Given the description of an element on the screen output the (x, y) to click on. 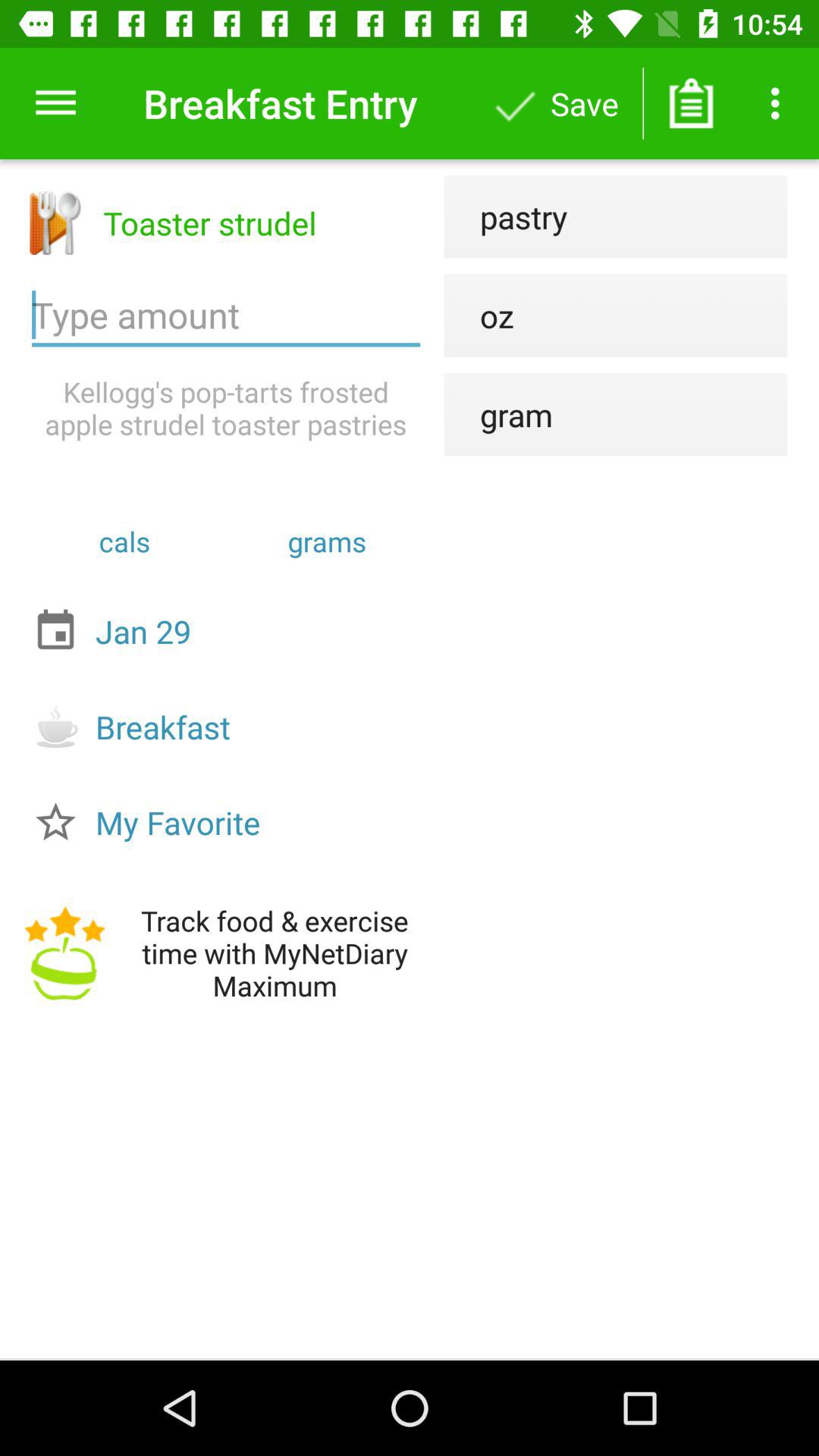
click gram icon (498, 414)
